Given the description of an element on the screen output the (x, y) to click on. 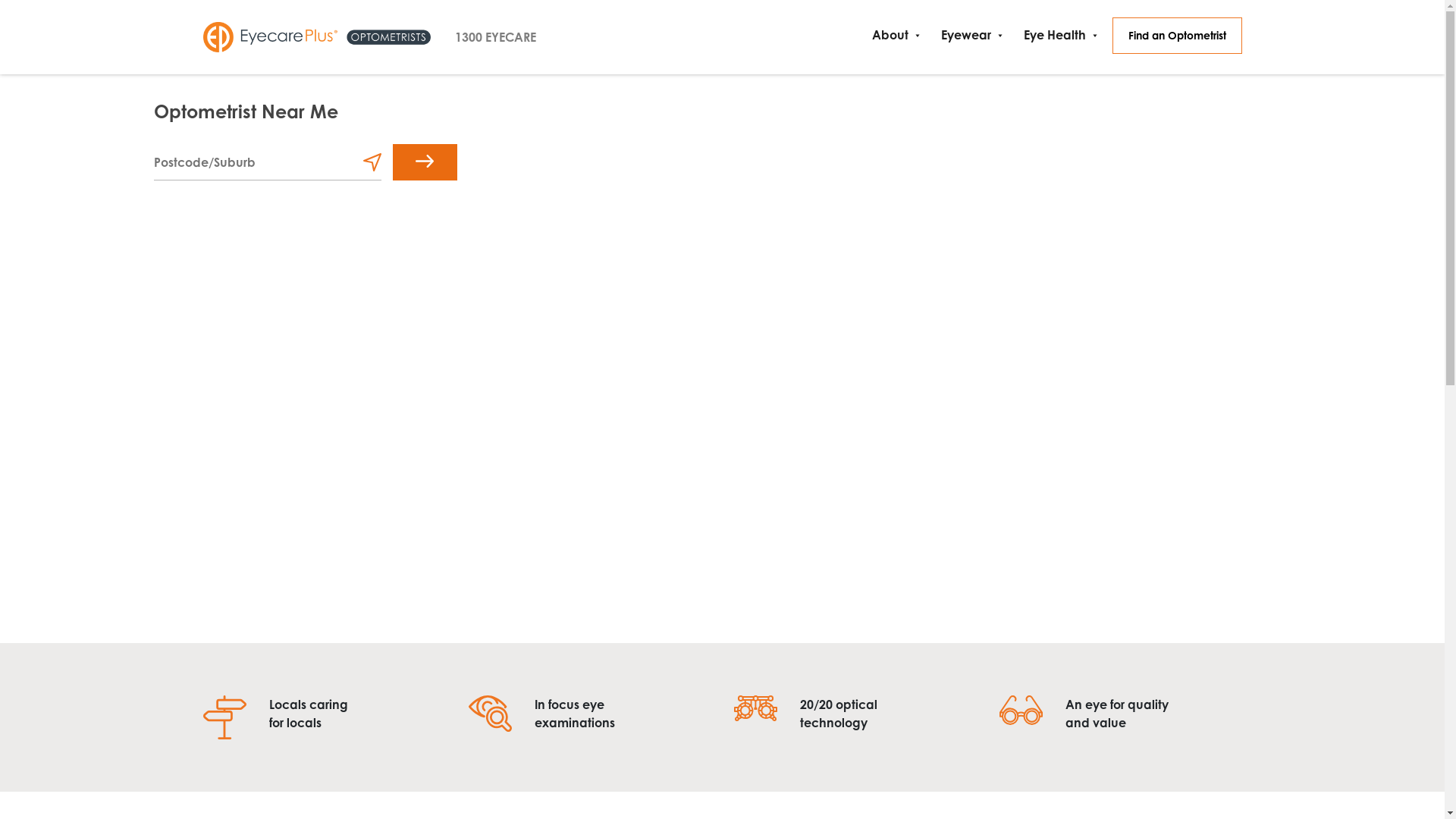
1300 EYECARE Element type: text (495, 37)
Search Element type: hover (424, 162)
Eyewear Element type: text (967, 34)
Find an Optometrist Element type: text (1176, 35)
Eye Health Element type: text (1057, 34)
About Element type: text (892, 34)
